Given the description of an element on the screen output the (x, y) to click on. 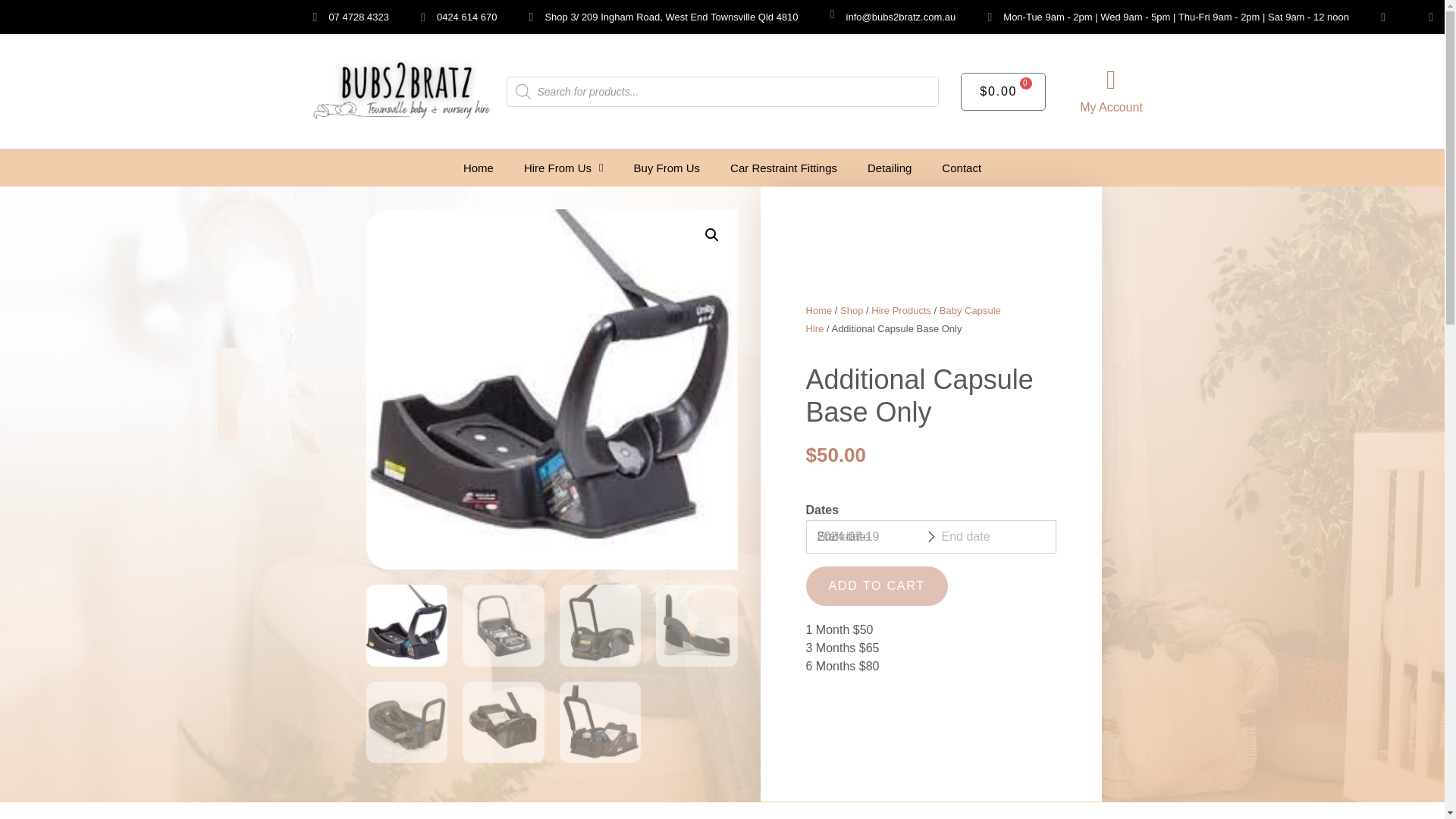
Contact (960, 167)
Hire From Us (563, 167)
Car Restraint Fittings (782, 167)
Buy From Us (667, 167)
Capsule-Bases.jpg (550, 389)
My Account (1111, 106)
Home (478, 167)
07 4728 4323 (344, 16)
2024-07-19 (868, 536)
Detailing (888, 167)
0424 614 670 (453, 16)
